Given the description of an element on the screen output the (x, y) to click on. 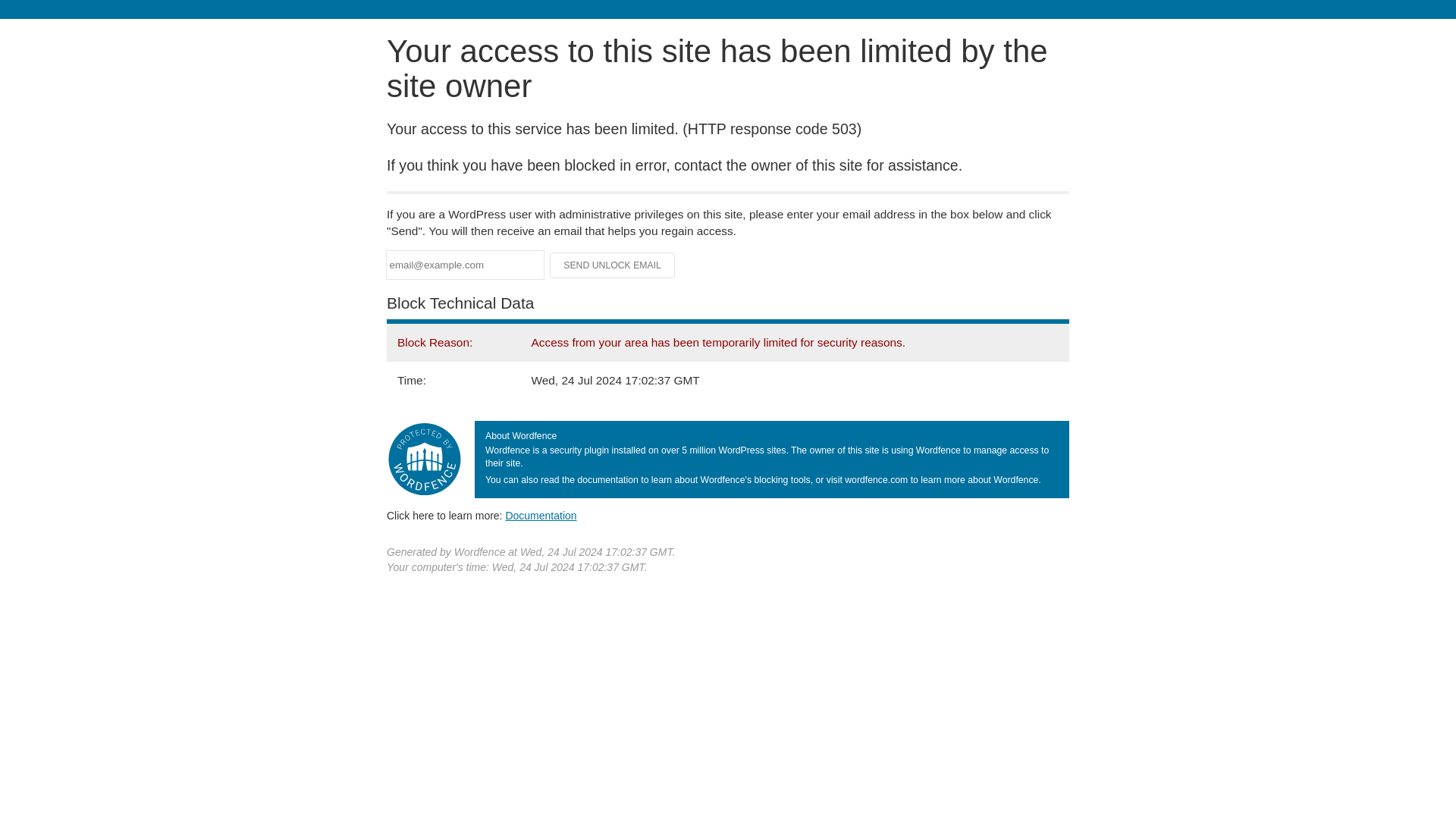
Send Unlock Email (612, 265)
Documentation (540, 515)
Send Unlock Email (612, 265)
